Given the description of an element on the screen output the (x, y) to click on. 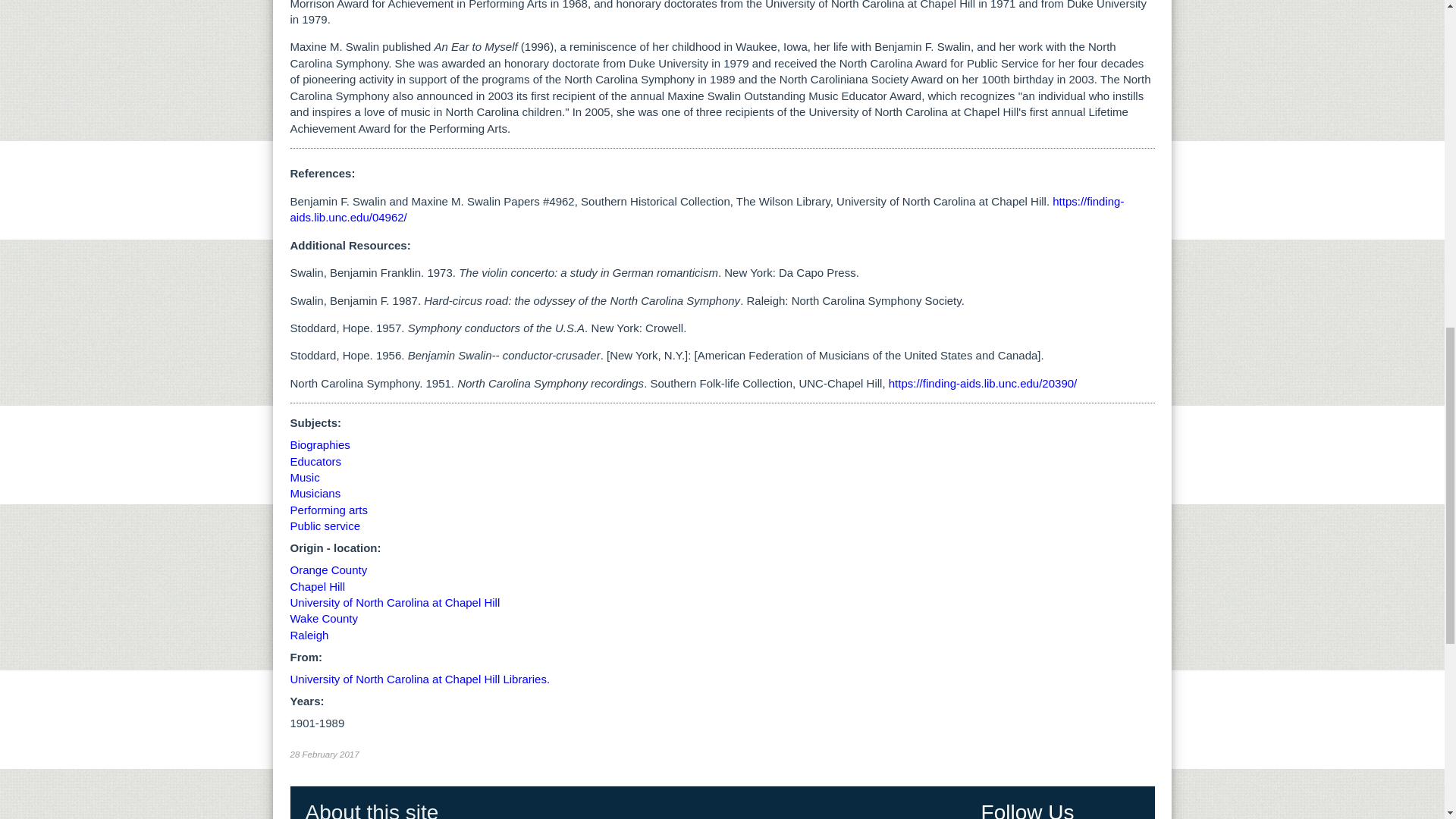
Biographies (319, 444)
Educators (314, 461)
Music (303, 477)
Orange County (327, 569)
Musicians (314, 492)
University of North Carolina at Chapel Hill Libraries. (419, 678)
Wake County (322, 617)
Performing arts (328, 509)
About this site (371, 809)
University of North Carolina at Chapel Hill (394, 602)
